Given the description of an element on the screen output the (x, y) to click on. 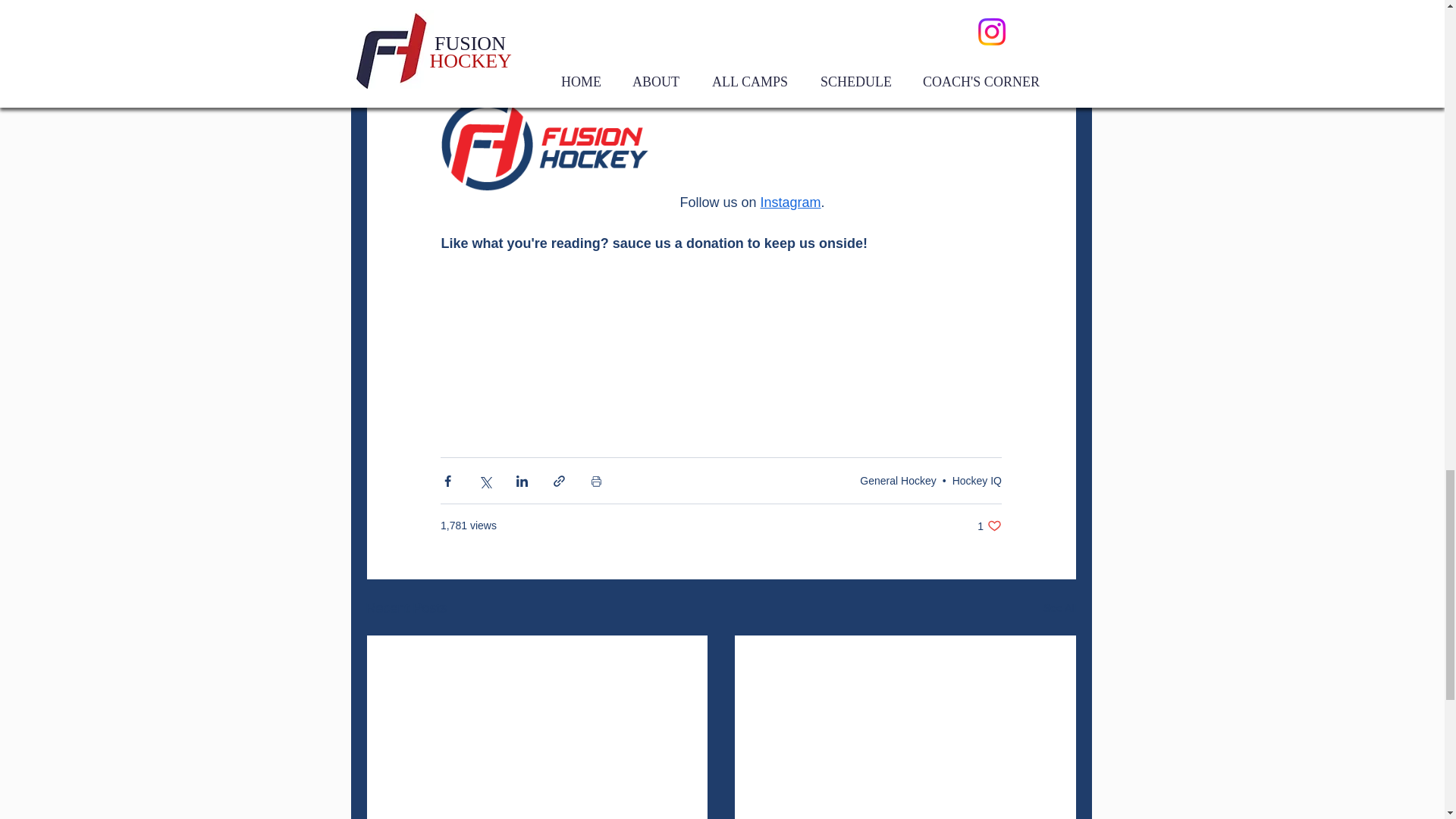
Hockey IQ (976, 480)
Instagram (790, 201)
General Hockey (898, 480)
See All (988, 525)
